Given the description of an element on the screen output the (x, y) to click on. 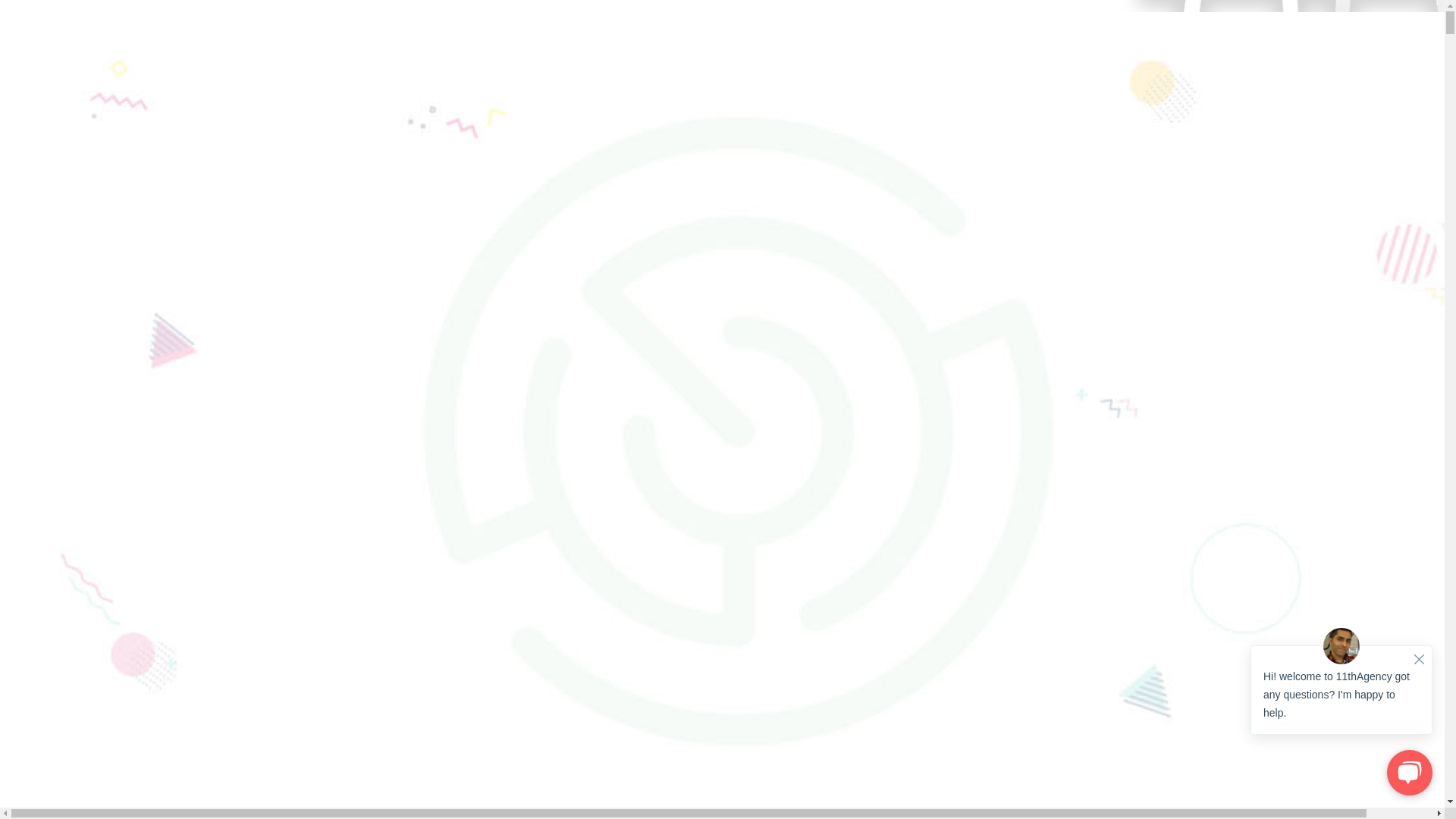
Seo Element type: text (75, 409)
Skip to main content Element type: text (5, 5)
Branding Element type: text (89, 368)
512-333-4515 Element type: text (70, 464)
Clients Element type: text (53, 436)
Graphic Designing Element type: text (112, 423)
Services Element type: text (56, 327)
Development Element type: text (98, 354)
Web Design Element type: text (95, 341)
Contact Us Element type: text (33, 274)
SaaS App Development Element type: text (124, 382)
Social Media Element type: text (98, 395)
Work Element type: text (49, 313)
Design Subscription Element type: text (85, 300)
Contact Us Element type: text (63, 450)
